Given the description of an element on the screen output the (x, y) to click on. 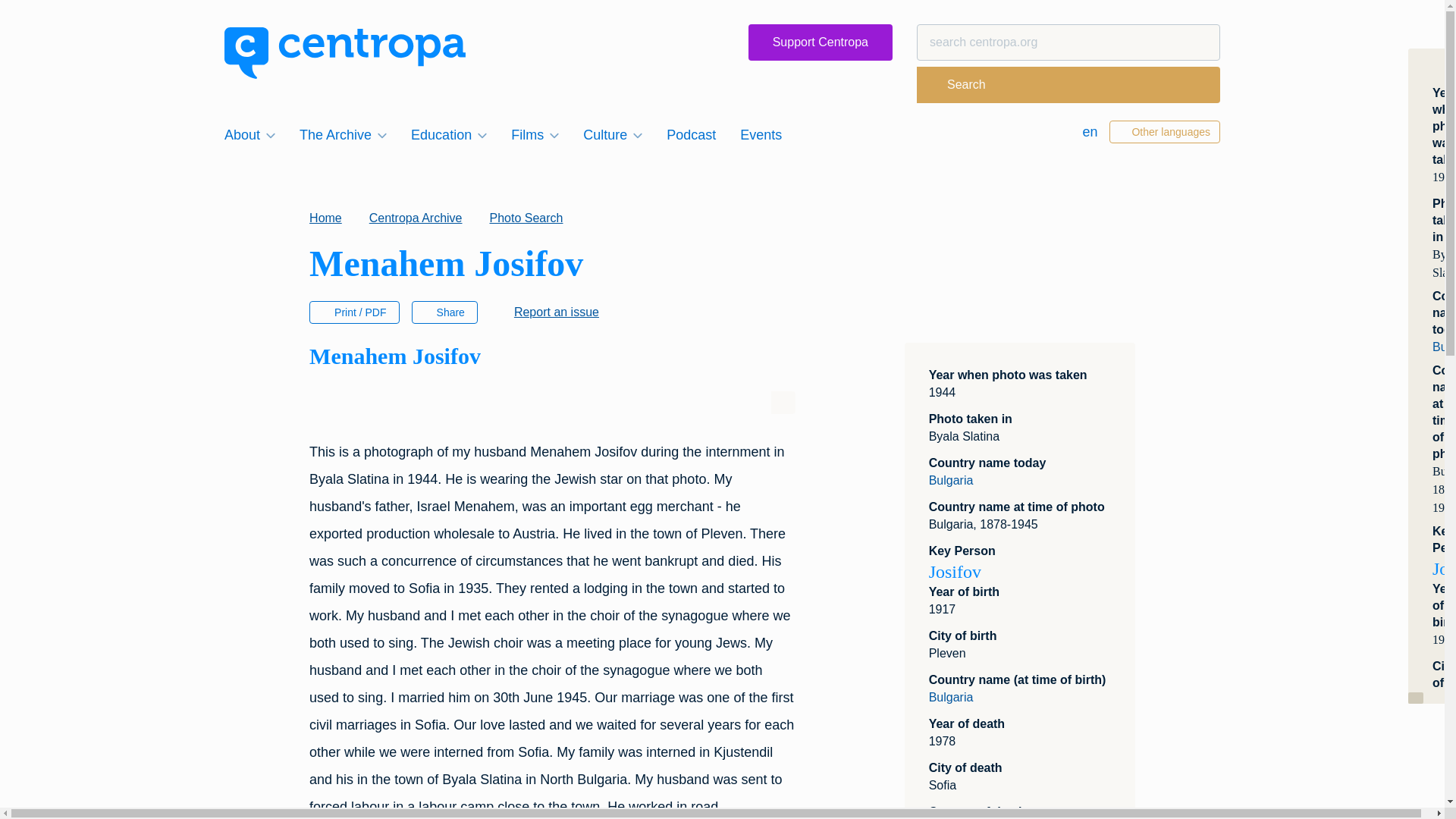
Education (448, 134)
Podcast (691, 134)
Support Centropa (820, 42)
Films (534, 134)
Support Centropa (820, 42)
Culture (611, 134)
Events (760, 134)
The Archive (343, 134)
Search (957, 84)
About (249, 134)
Search (957, 84)
